Given the description of an element on the screen output the (x, y) to click on. 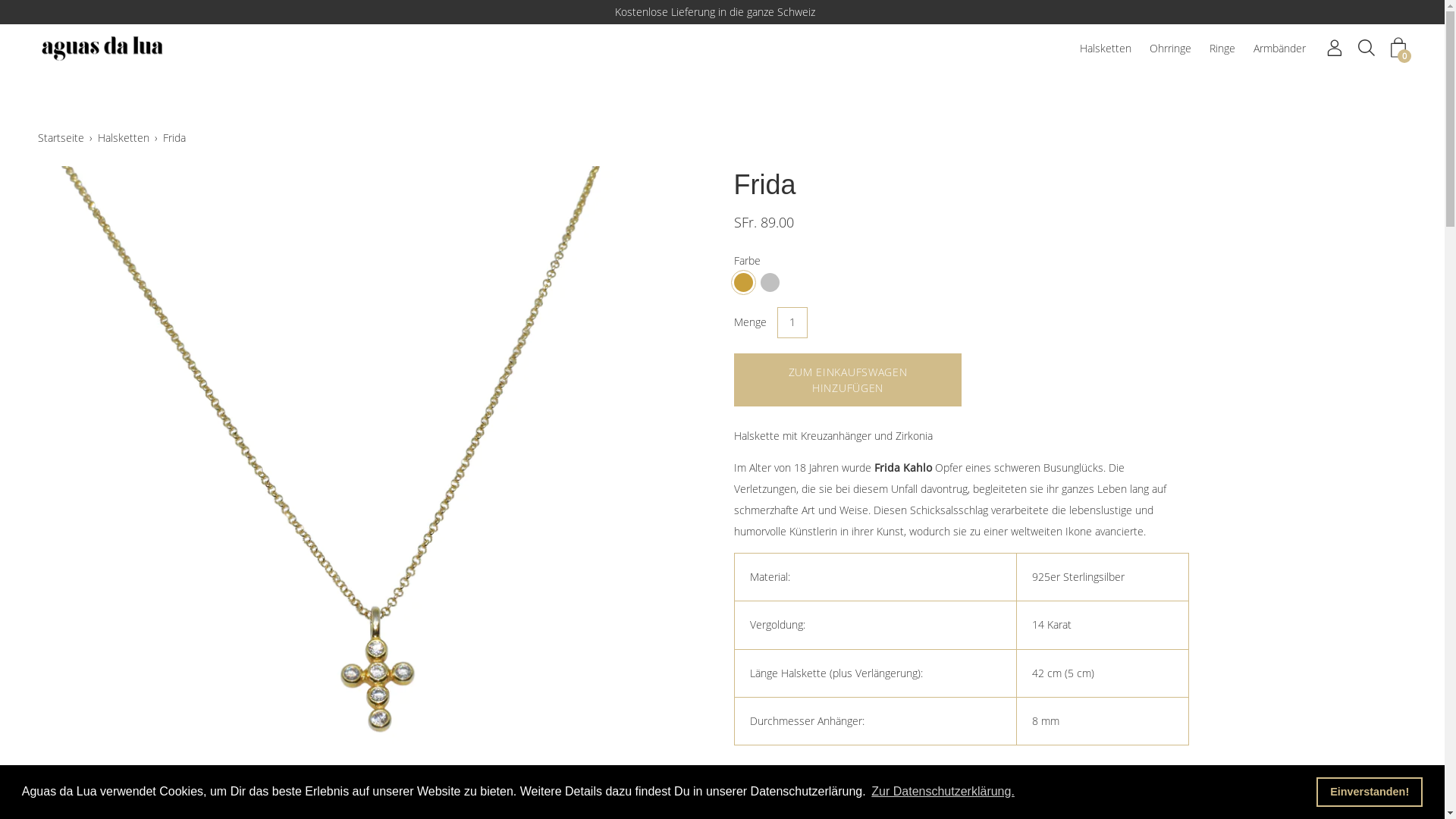
Halsketten Element type: text (125, 137)
Halsketten Element type: text (1105, 48)
Ohrringe Element type: text (1170, 48)
Einverstanden! Element type: text (1369, 791)
0 Element type: text (1398, 47)
Startseite Element type: text (63, 137)
Ringe Element type: text (1222, 48)
